Given the description of an element on the screen output the (x, y) to click on. 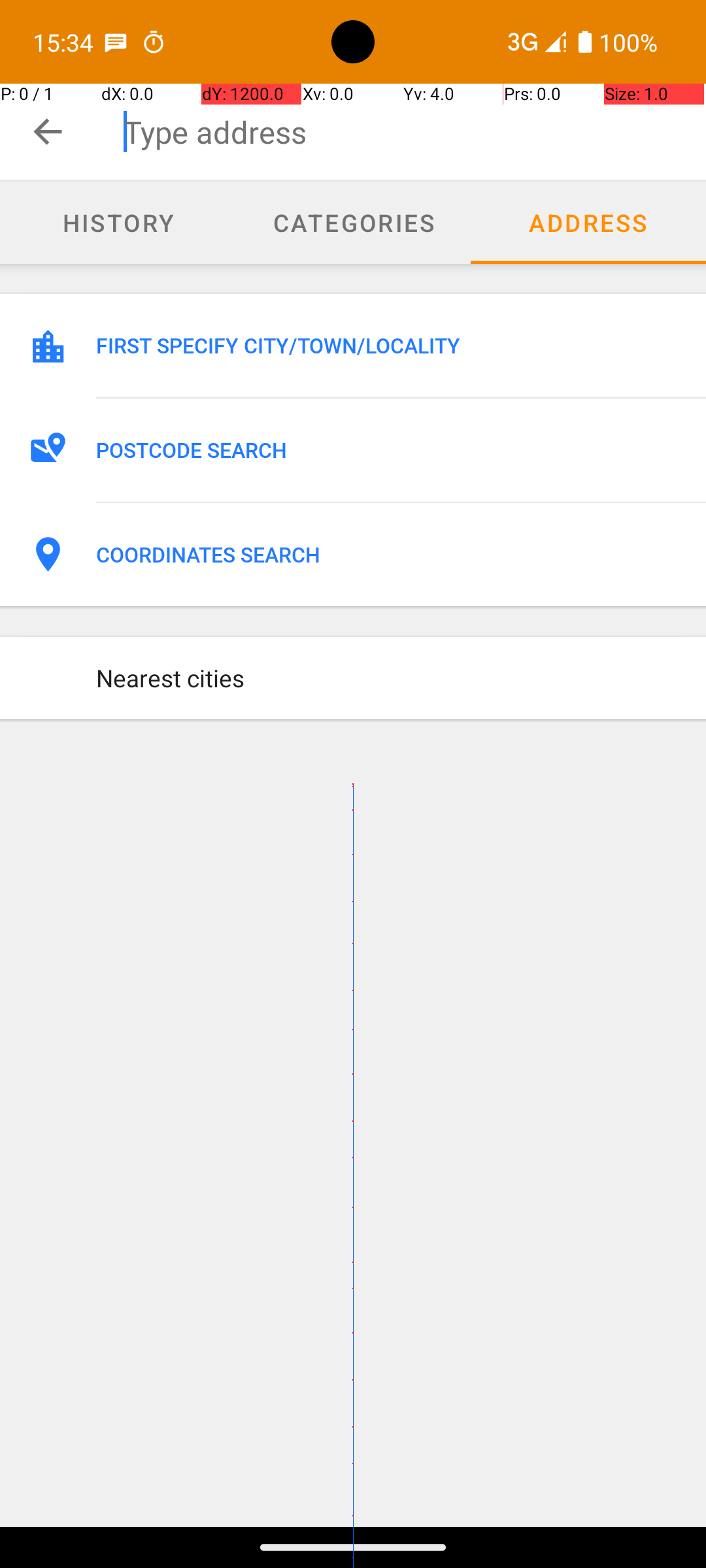
Type address Element type: android.widget.EditText (414, 131)
FIRST SPECIFY CITY/TOWN/LOCALITY Element type: android.widget.TextView (387, 345)
POSTCODE SEARCH Element type: android.widget.TextView (387, 450)
COORDINATES SEARCH Element type: android.widget.TextView (387, 554)
Nearest cities Element type: android.widget.TextView (387, 678)
